Given the description of an element on the screen output the (x, y) to click on. 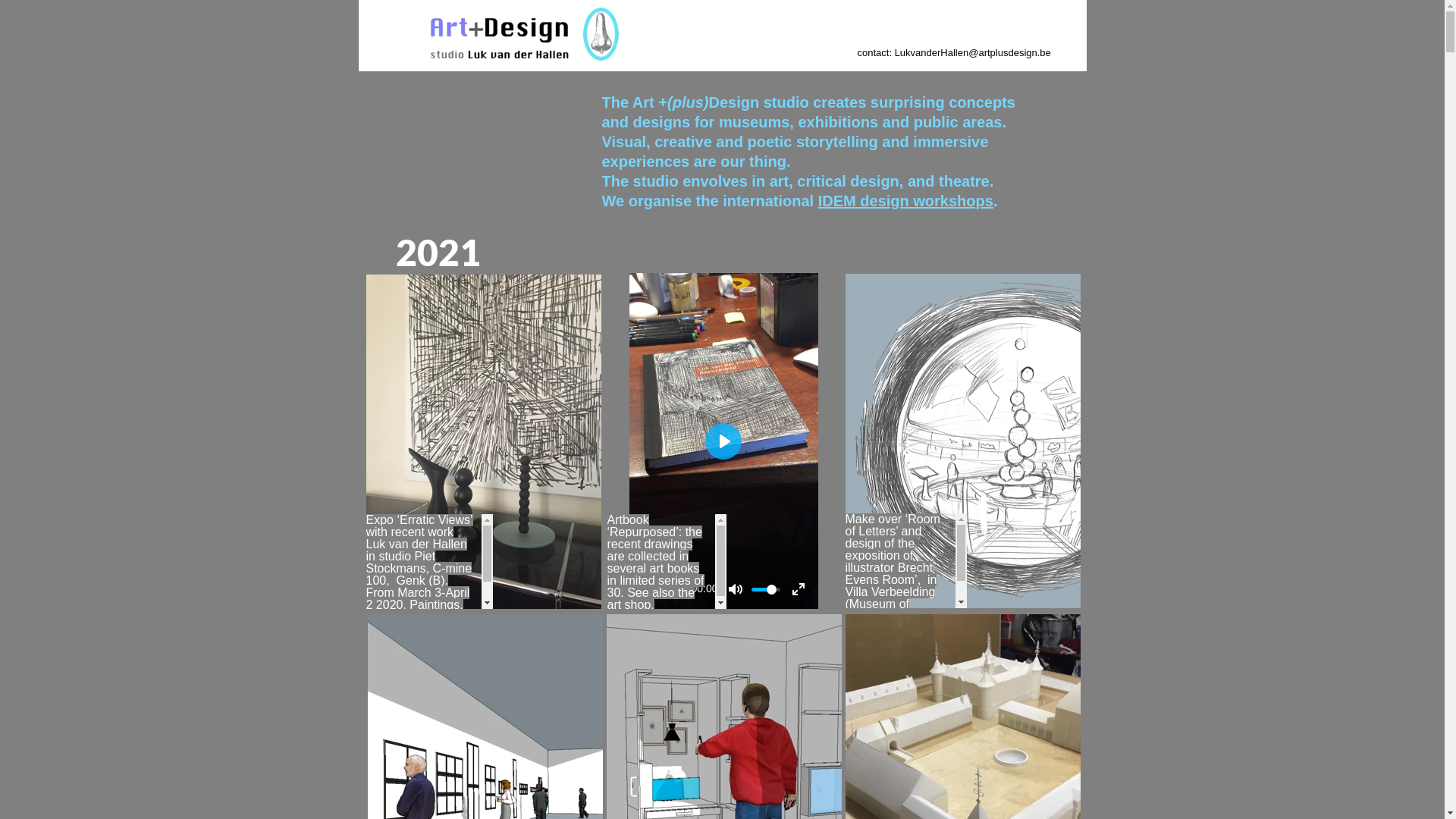
contact: LukvanderHallen@artplusdesign.be Element type: text (953, 52)
Mute Element type: text (735, 589)
art shop. Element type: text (629, 604)
Play Element type: text (723, 441)
Enter fullscreen Element type: text (797, 589)
2 Element type: text (406, 251)
IDEM design workshops Element type: text (905, 200)
Play Element type: text (649, 589)
. Element type: text (995, 200)
